Given the description of an element on the screen output the (x, y) to click on. 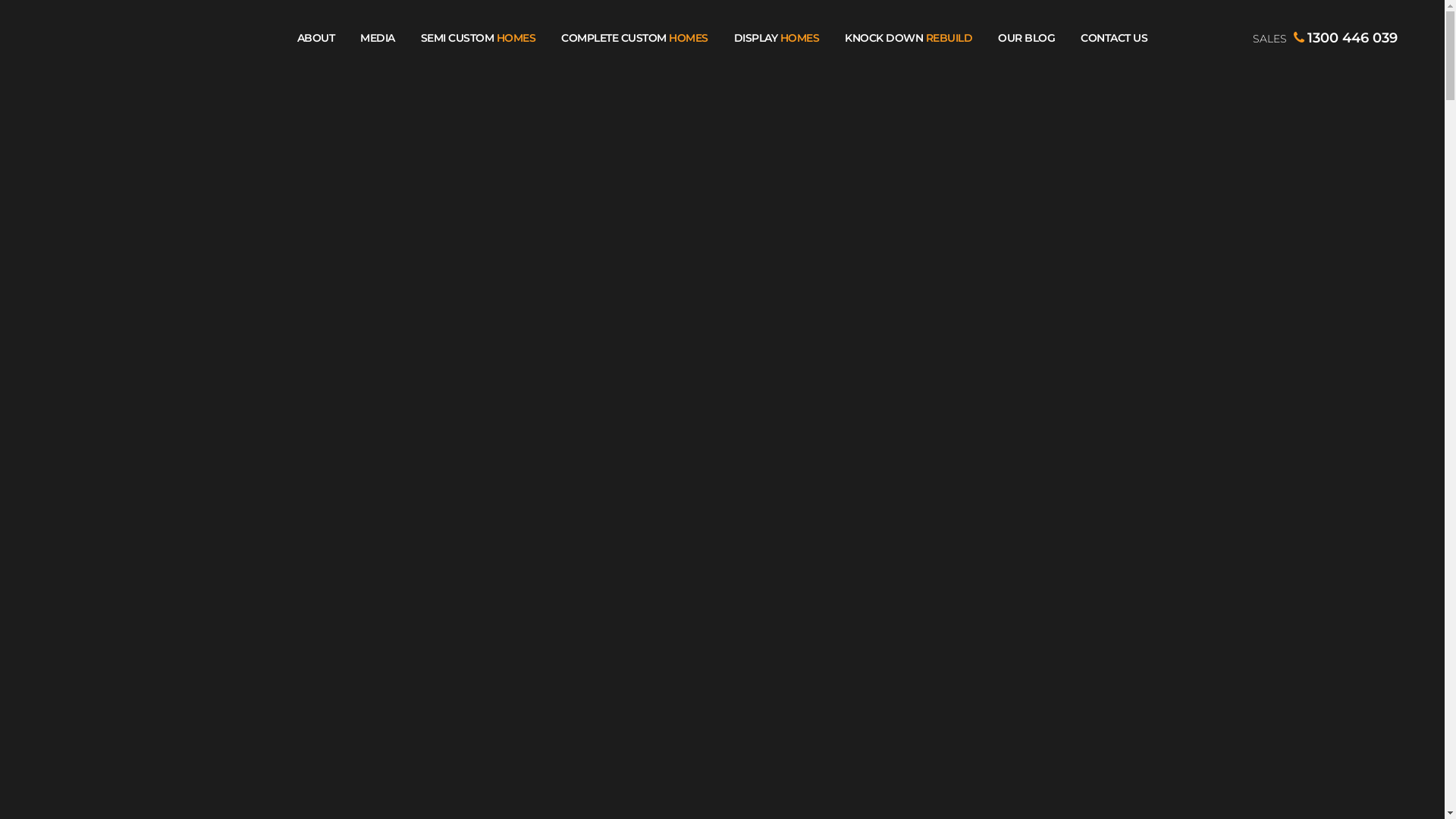
OUR BLOG Element type: text (1026, 37)
MEDIA Element type: text (377, 37)
CONTACT US Element type: text (1113, 37)
SEMI CUSTOM HOMES Element type: text (478, 37)
ABOUT Element type: text (315, 37)
SALES 1300 446 039 Element type: text (1313, 37)
KNOCK DOWN REBUILD Element type: text (908, 37)
DISPLAY HOMES Element type: text (776, 37)
COMPLETE CUSTOM HOMES Element type: text (634, 37)
